Given the description of an element on the screen output the (x, y) to click on. 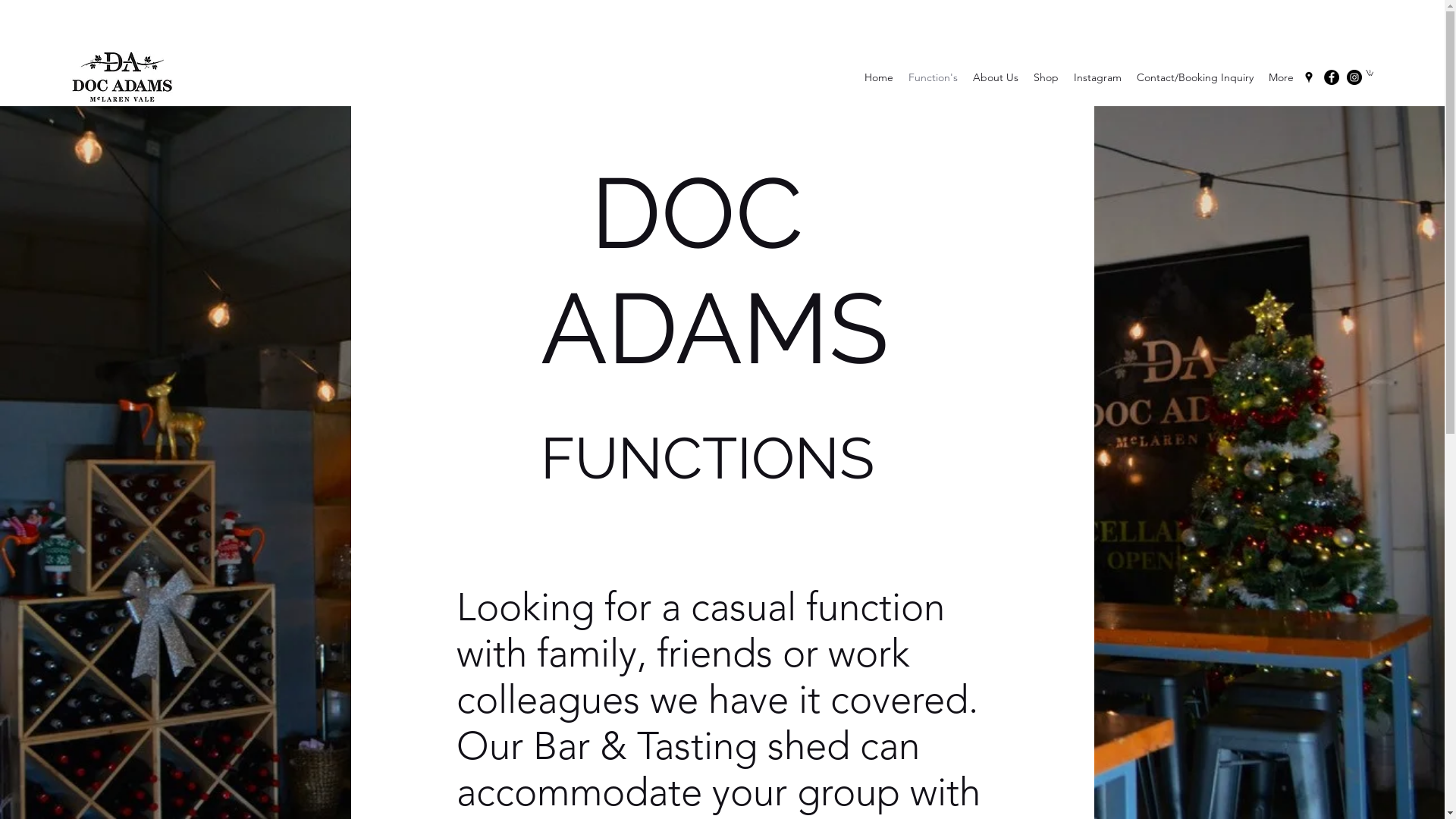
Shop Element type: text (1046, 76)
0 Element type: text (1369, 72)
Instagram Element type: text (1097, 76)
About Us Element type: text (995, 76)
Contact/Booking Inquiry Element type: text (1195, 76)
Function's Element type: text (932, 76)
Home Element type: text (878, 76)
